Given the description of an element on the screen output the (x, y) to click on. 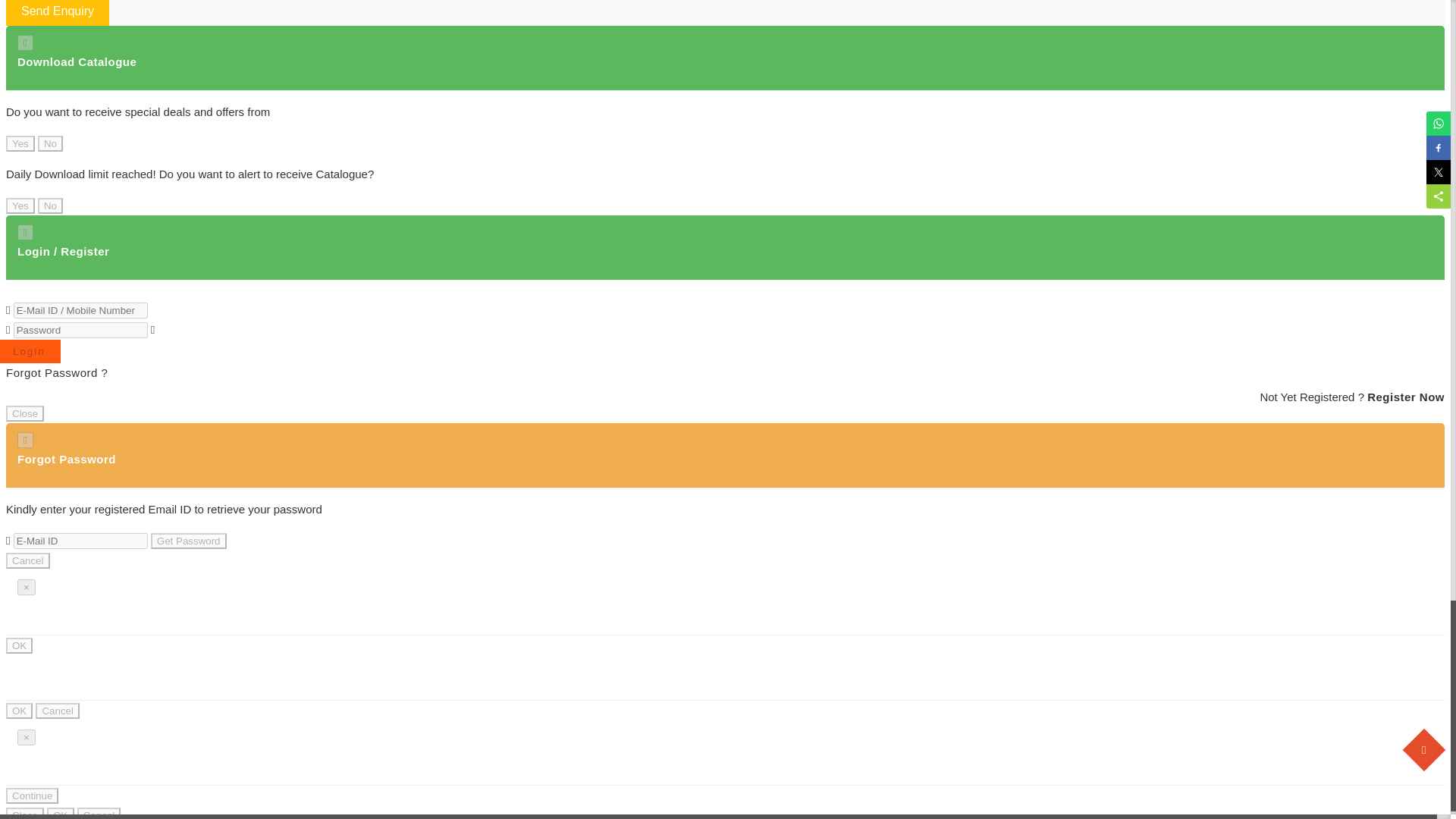
No (49, 205)
Send Enquiry (57, 12)
Yes (19, 205)
No (49, 143)
Yes (19, 143)
